Given the description of an element on the screen output the (x, y) to click on. 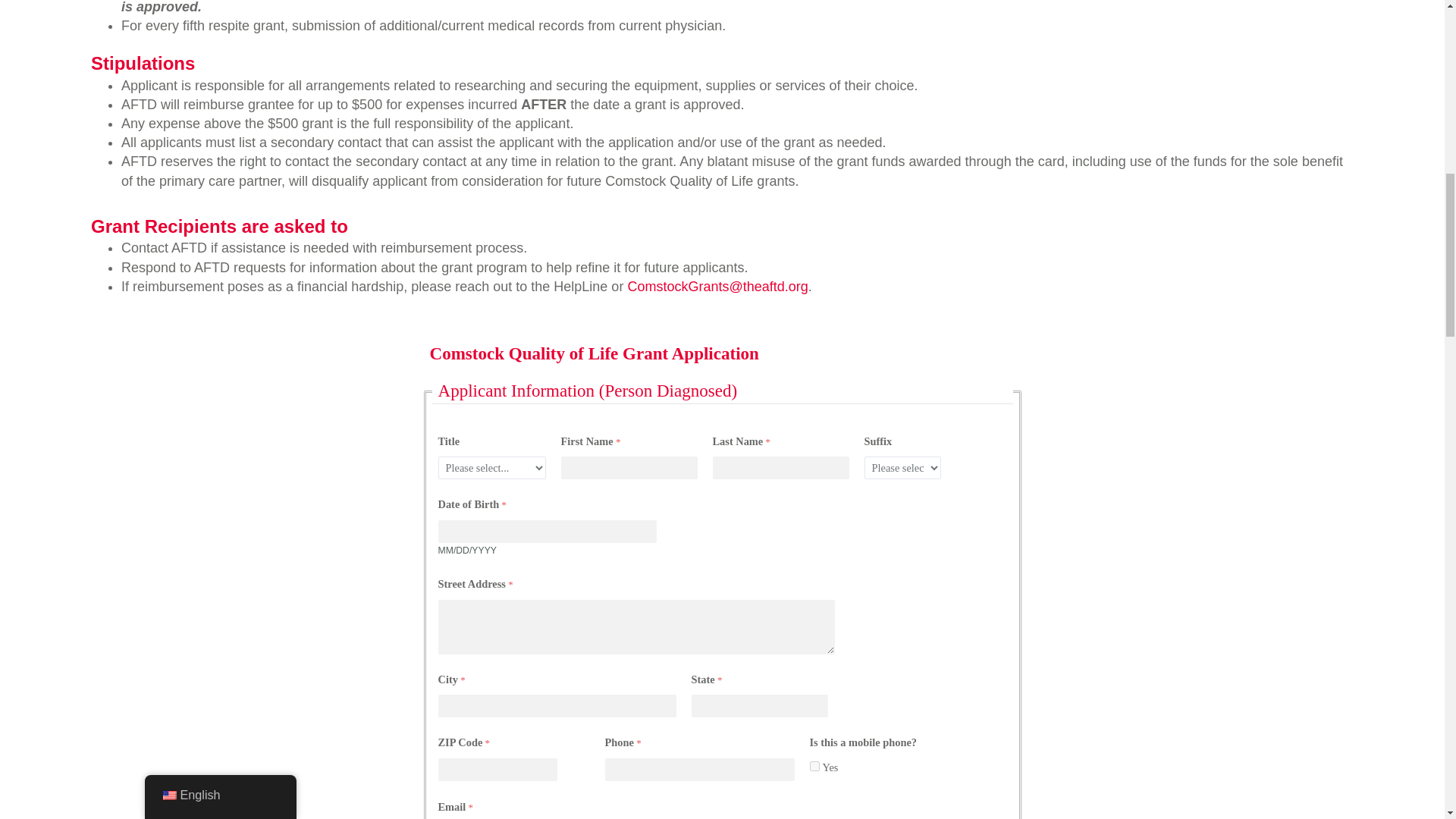
Date of Birth (547, 531)
First Name (628, 467)
Street Address (636, 626)
Title (492, 467)
Suffix (902, 467)
Last Name (780, 467)
